Given the description of an element on the screen output the (x, y) to click on. 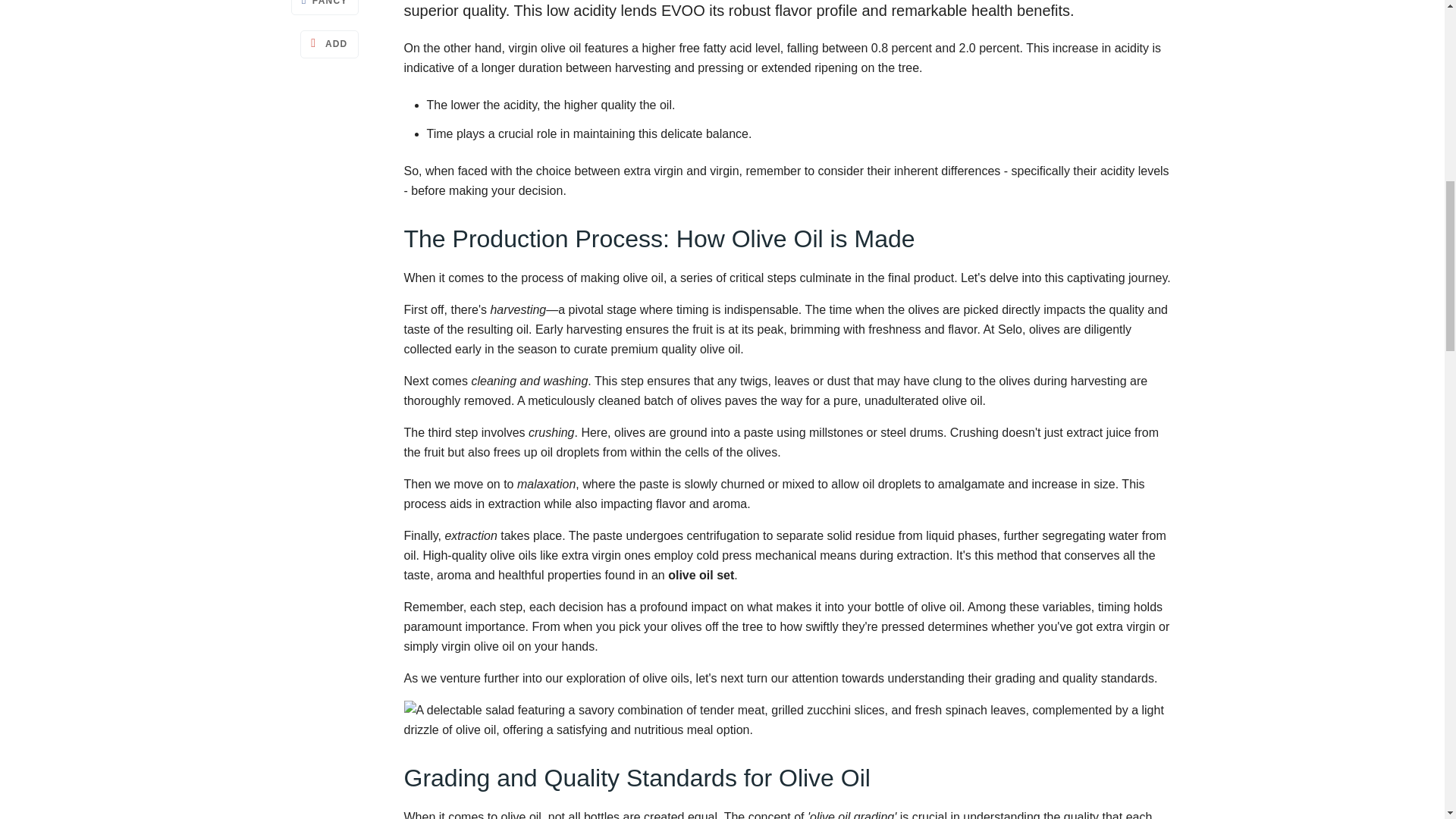
ADD (328, 44)
FANCY (324, 7)
